Given the description of an element on the screen output the (x, y) to click on. 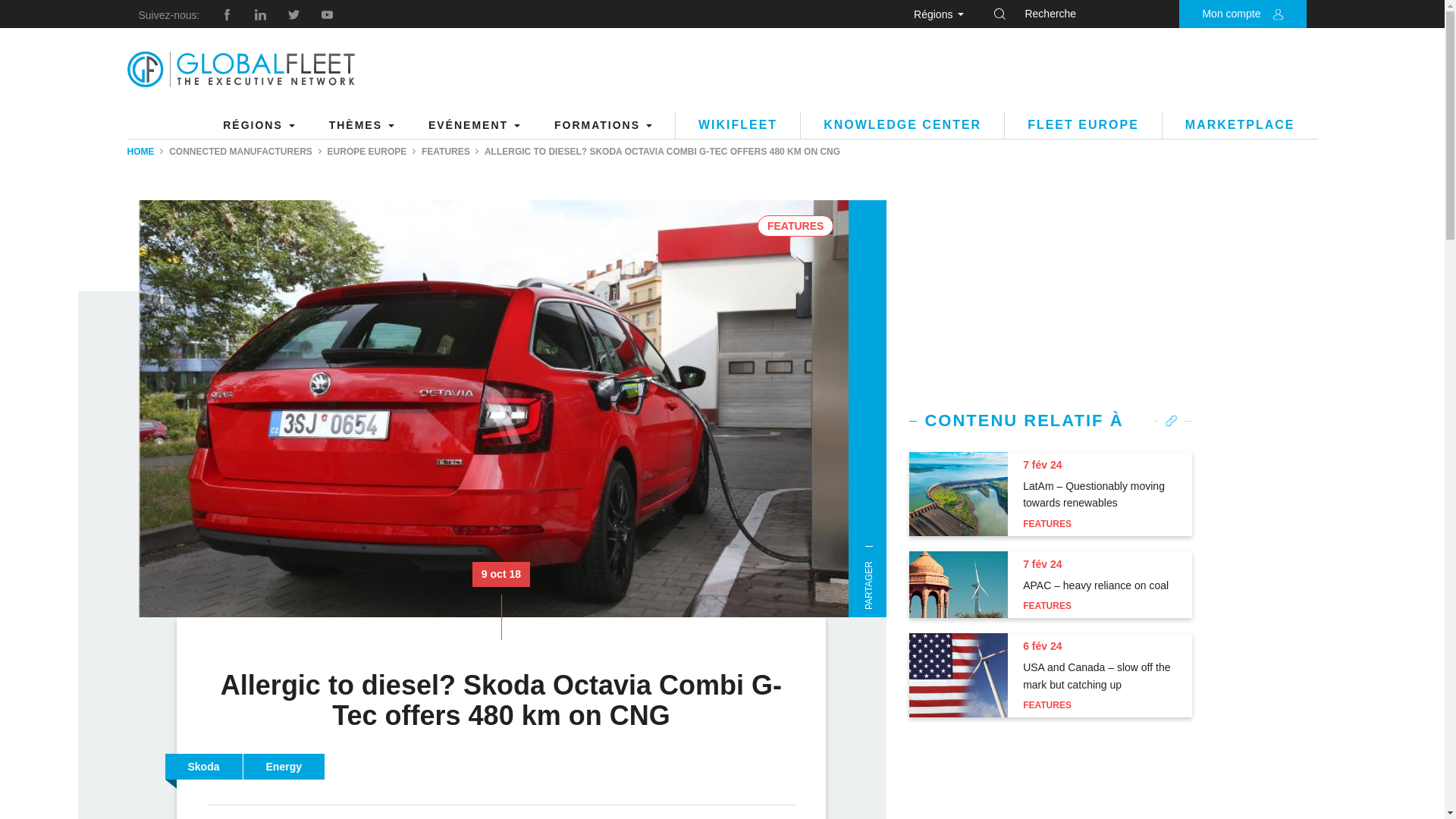
KNOWLEDGE CENTER (902, 124)
MARKETPLACE (1239, 124)
Twitter (293, 14)
WIKIFLEET (737, 124)
3rd party ad content (1041, 70)
Facebook (226, 14)
Connectez-vous (1172, 203)
3rd party ad content (1050, 779)
Recherche (1219, 13)
LinkedIn (260, 14)
Skoda (204, 766)
HOME (141, 151)
Recherche (1219, 13)
Youtube (327, 14)
3rd party ad content (1050, 294)
